Given the description of an element on the screen output the (x, y) to click on. 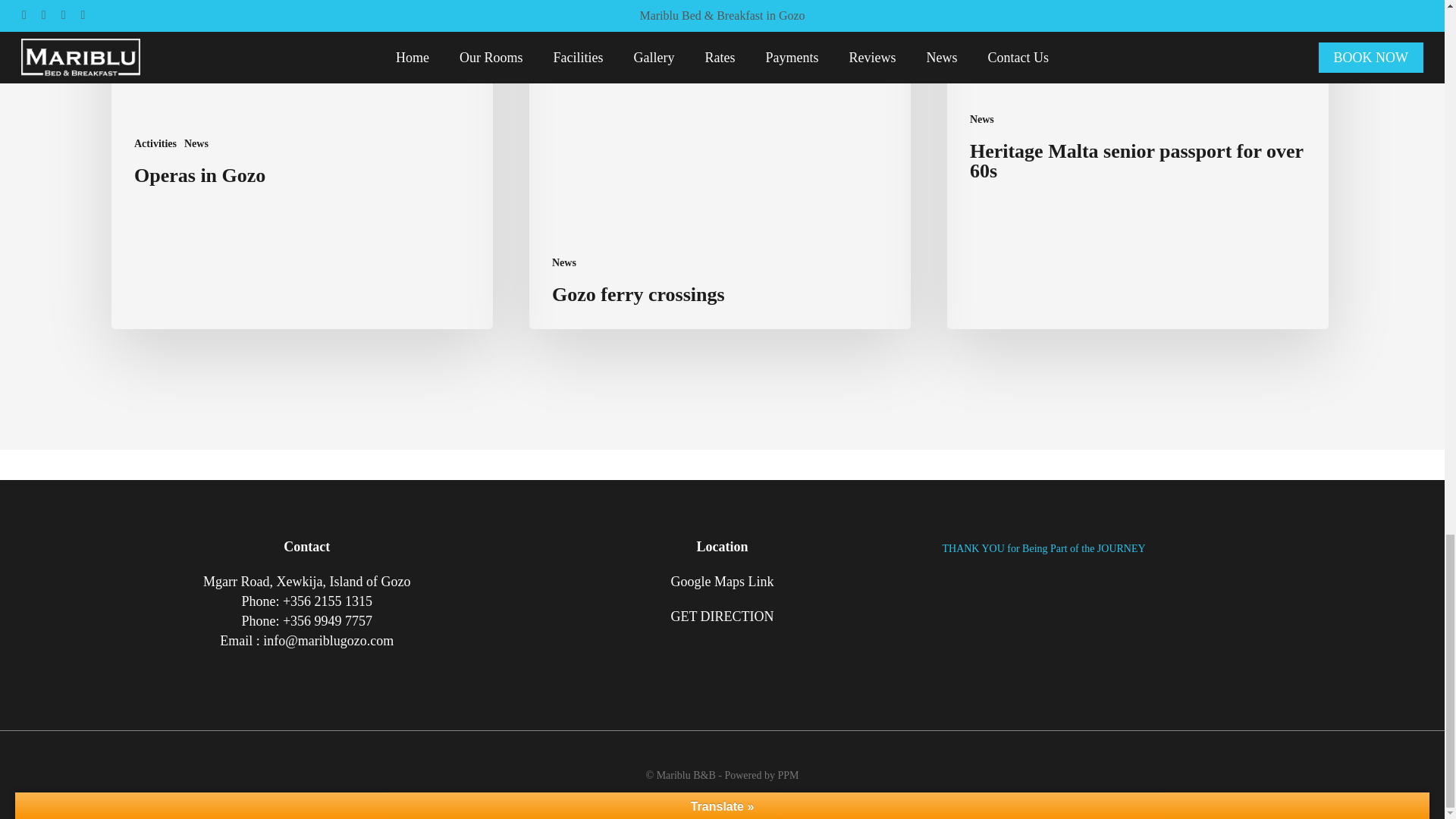
Activities (154, 143)
News (563, 262)
News (196, 143)
